Given the description of an element on the screen output the (x, y) to click on. 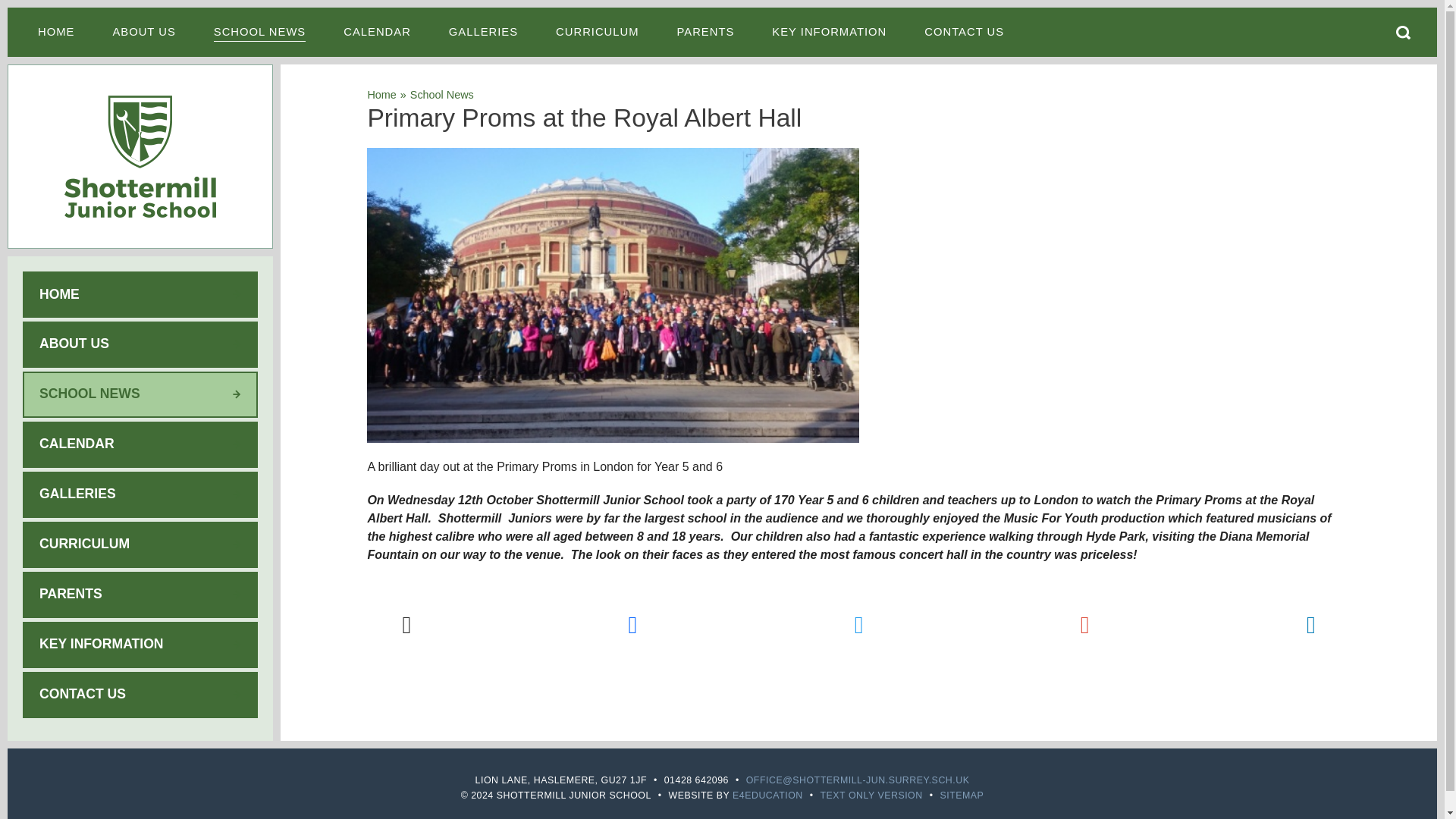
GALLERIES (483, 31)
ABOUT US (143, 31)
CALENDAR (376, 31)
CURRICULUM (597, 31)
SCHOOL NEWS (259, 31)
